Given the description of an element on the screen output the (x, y) to click on. 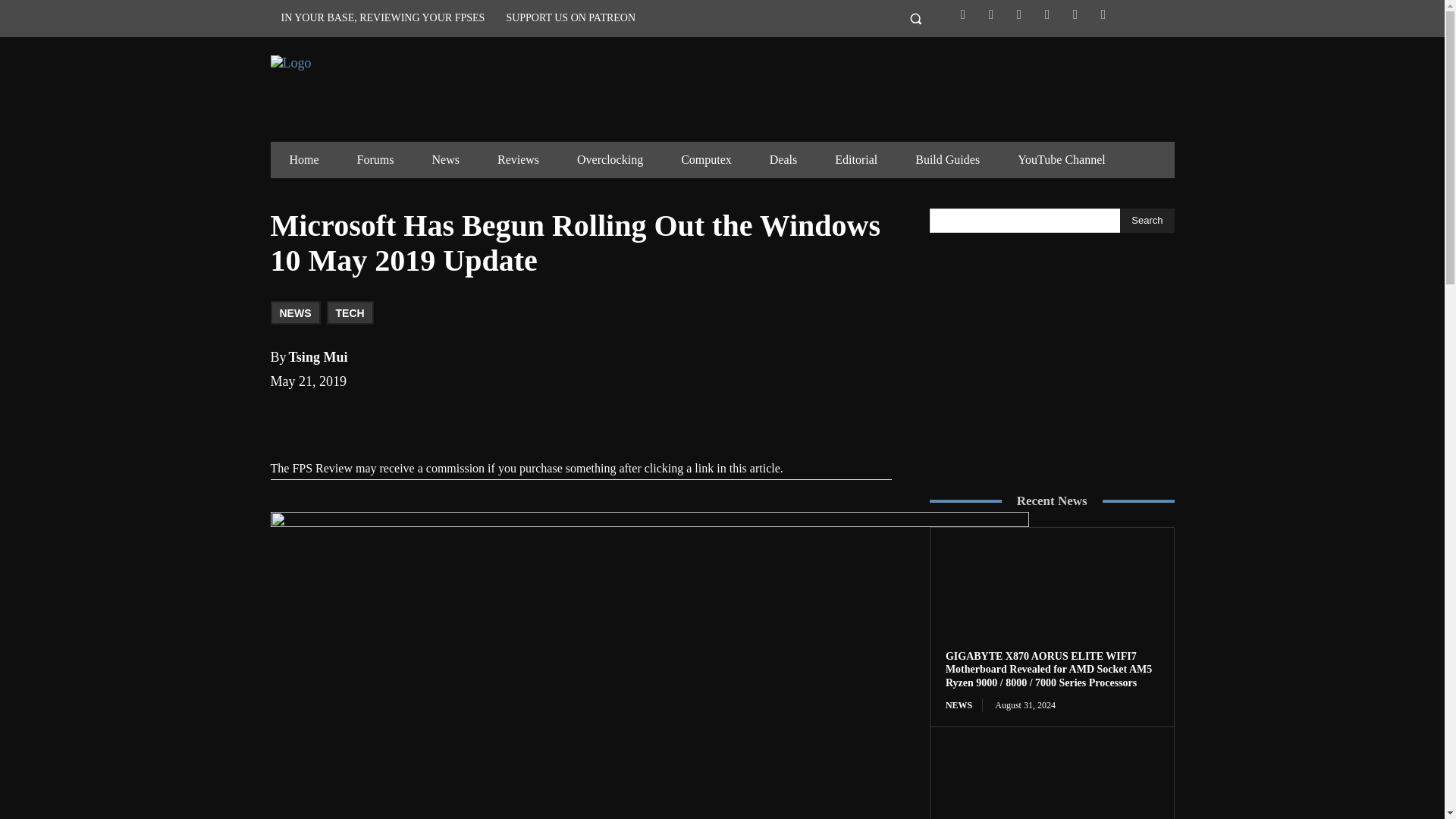
Patreon (1047, 13)
Flipboard (990, 13)
Facebook (962, 13)
Instagram (1019, 13)
